Given the description of an element on the screen output the (x, y) to click on. 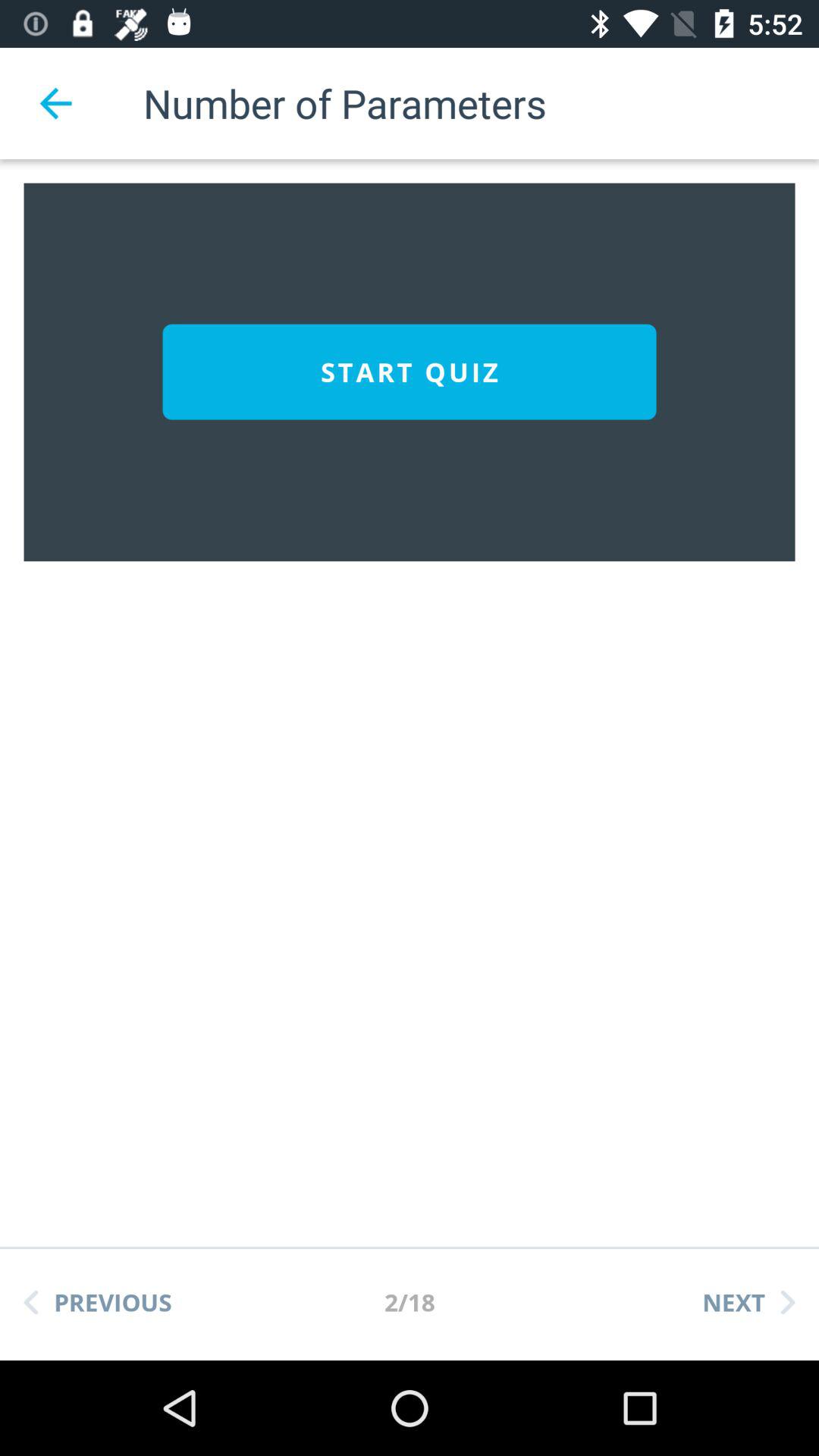
open the previous icon (97, 1302)
